Given the description of an element on the screen output the (x, y) to click on. 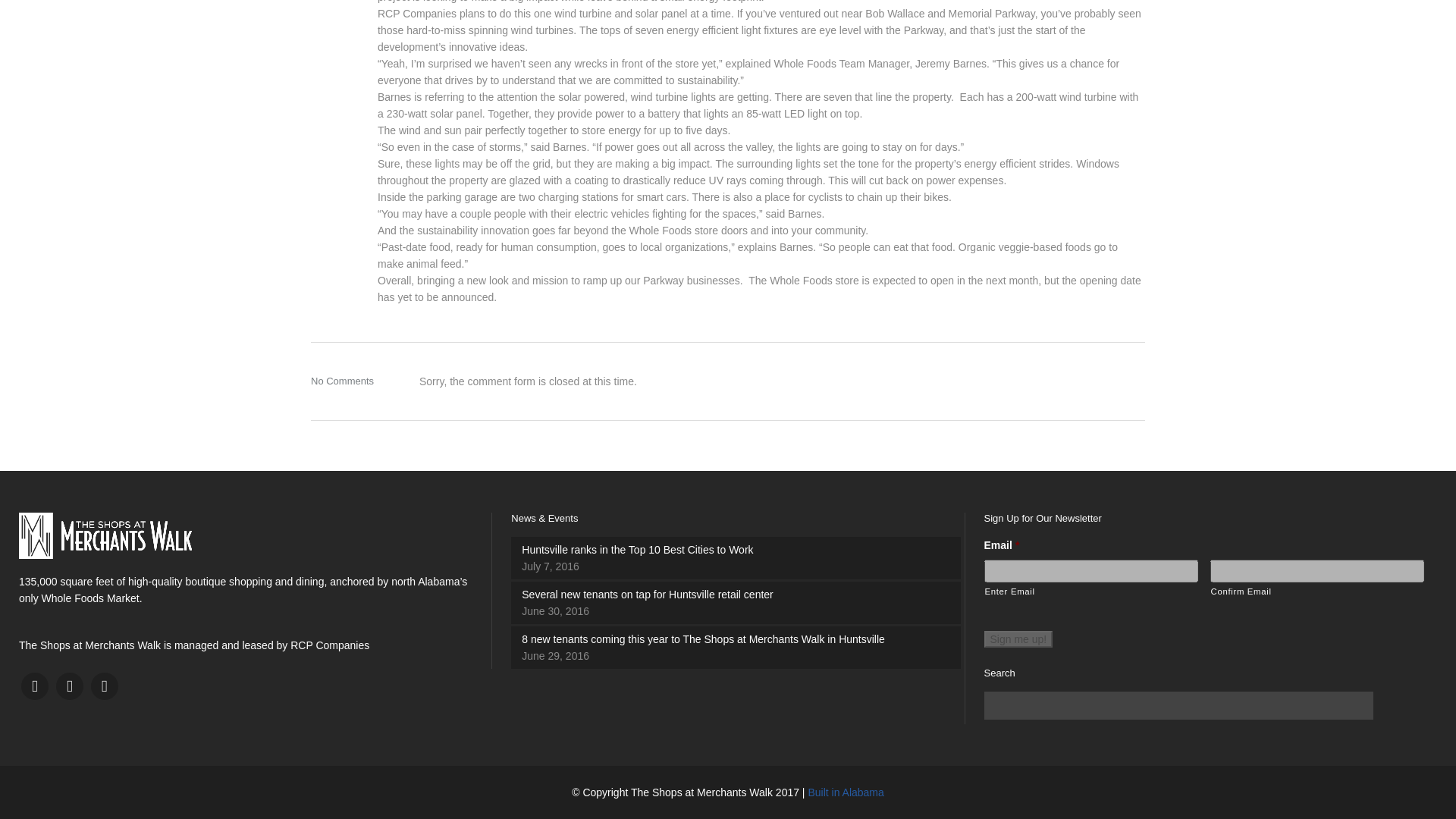
Search (1354, 705)
Sign me up! (1018, 638)
